Given the description of an element on the screen output the (x, y) to click on. 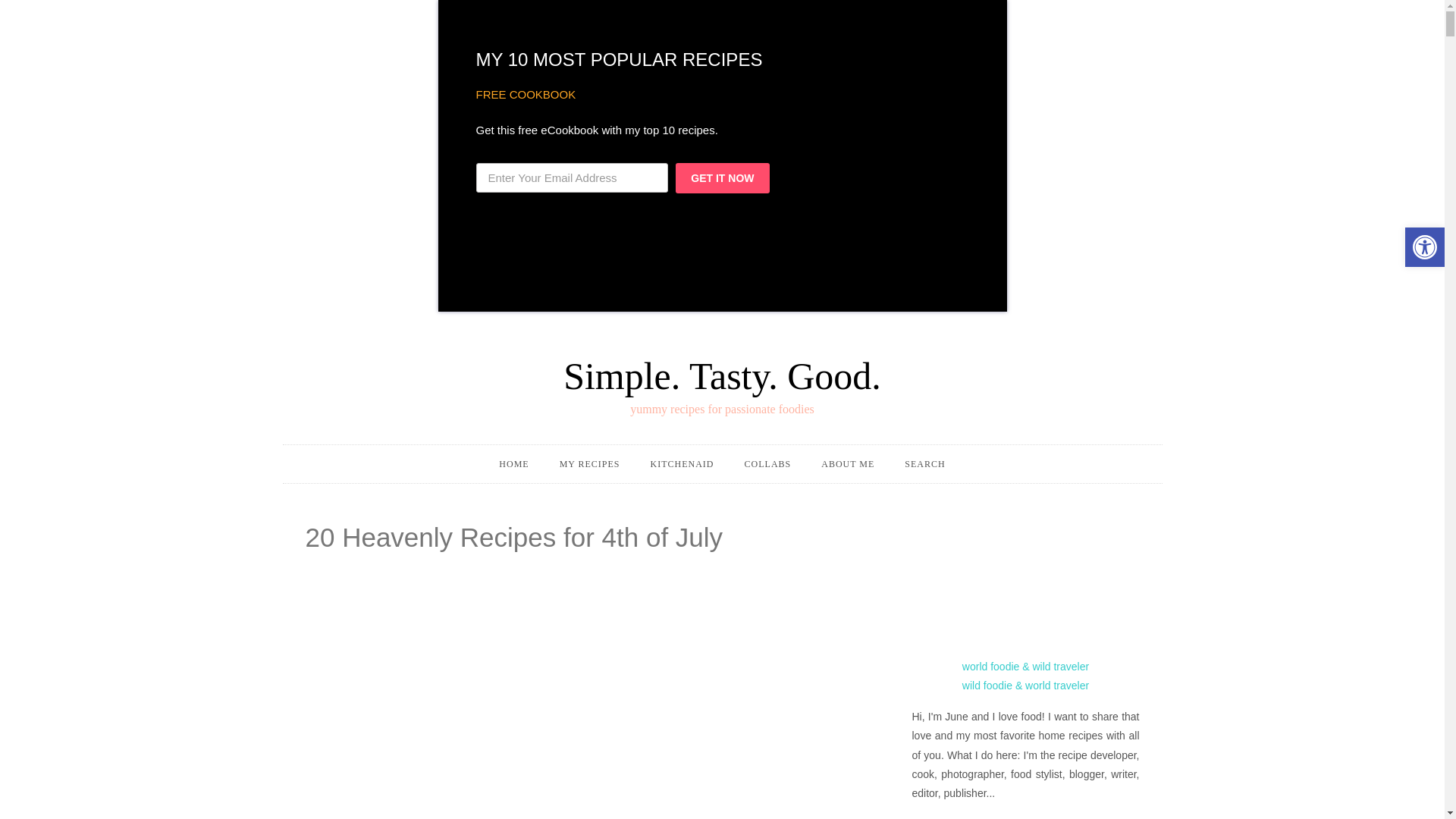
Accessibility Tools (1424, 247)
ABOUT ME (847, 464)
Simple. Tasty. Good. (721, 362)
SEARCH (924, 464)
COLLABS (767, 464)
KITCHENAID (681, 464)
HOME (513, 464)
MY RECIPES (589, 464)
